Given the description of an element on the screen output the (x, y) to click on. 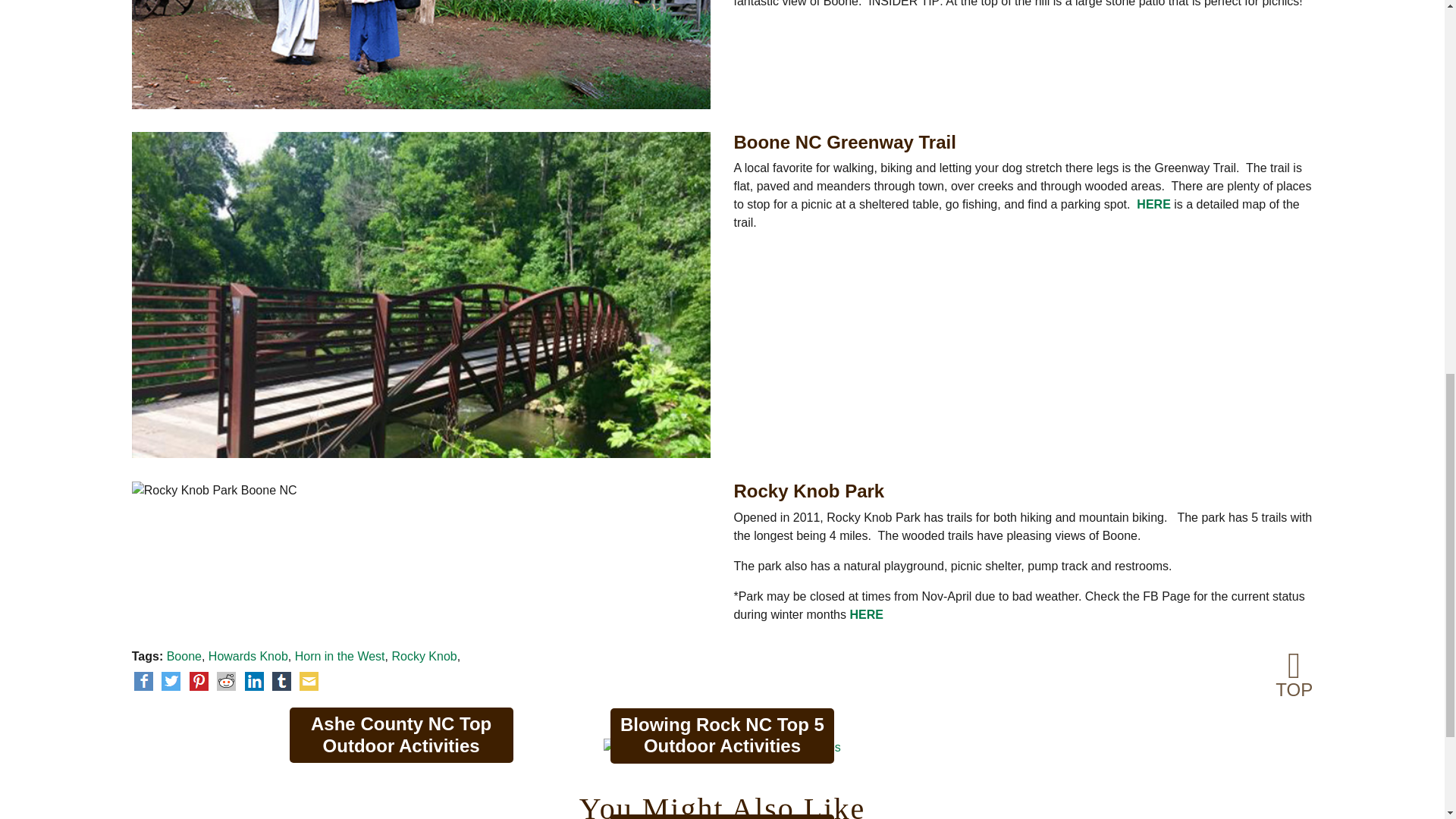
HERE (1153, 204)
Rocky Knob (424, 656)
HERE (1153, 204)
Howards Knob (248, 656)
HERE (865, 614)
Boone (184, 656)
Horn in the West (340, 656)
Blowing Rock NC Top 5 Outdoor Activities (722, 747)
HERE (865, 614)
